Given the description of an element on the screen output the (x, y) to click on. 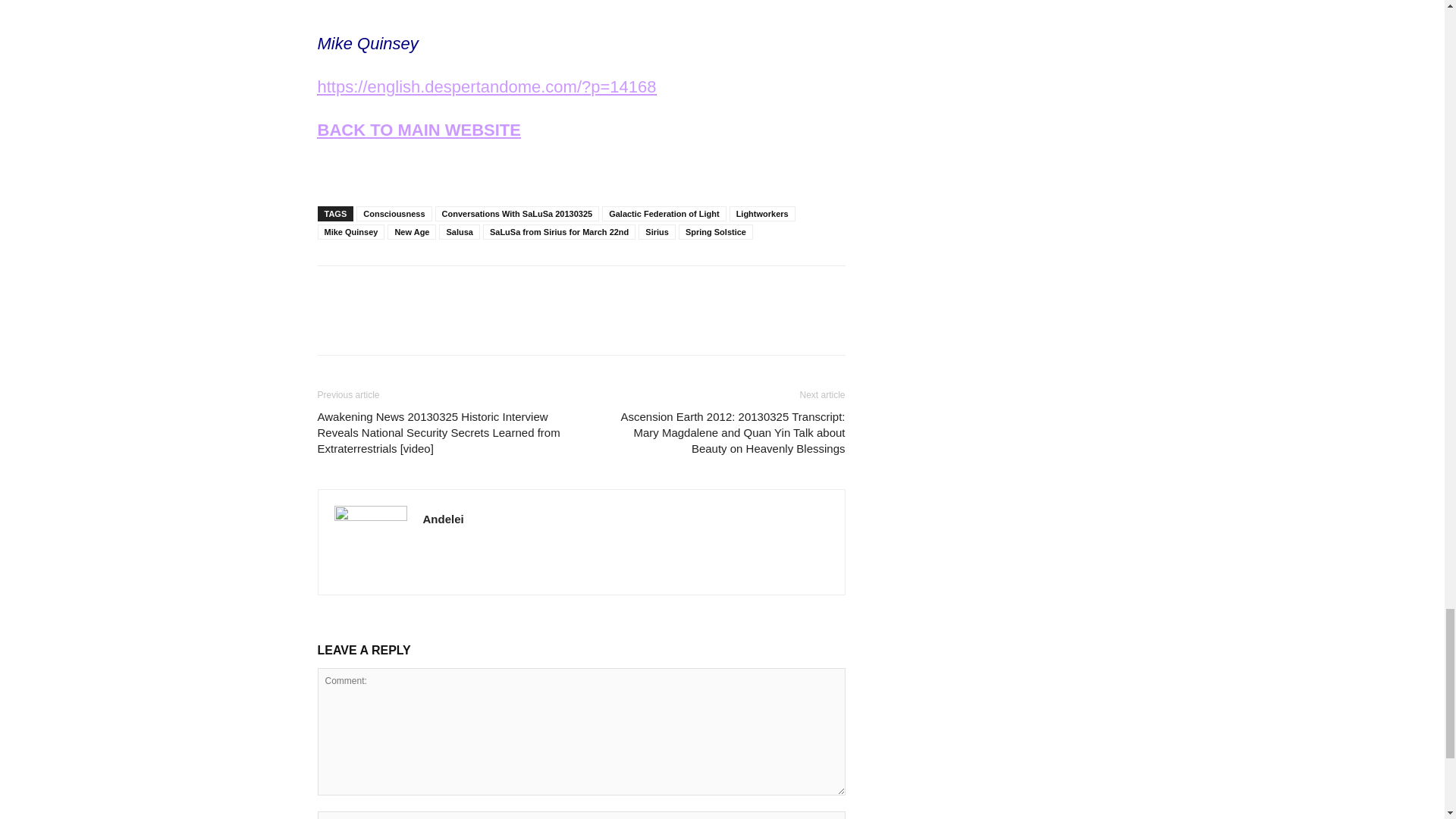
Consciousness (393, 213)
Lightworkers (761, 213)
Spring Solstice (715, 231)
Sirius (657, 231)
BACK TO MAIN WEBSITE (418, 129)
SaLuSa from Sirius for March 22nd (558, 231)
Salusa (459, 231)
Galactic Federation of Light (663, 213)
Mike Quinsey (350, 231)
New Age (411, 231)
